Given the description of an element on the screen output the (x, y) to click on. 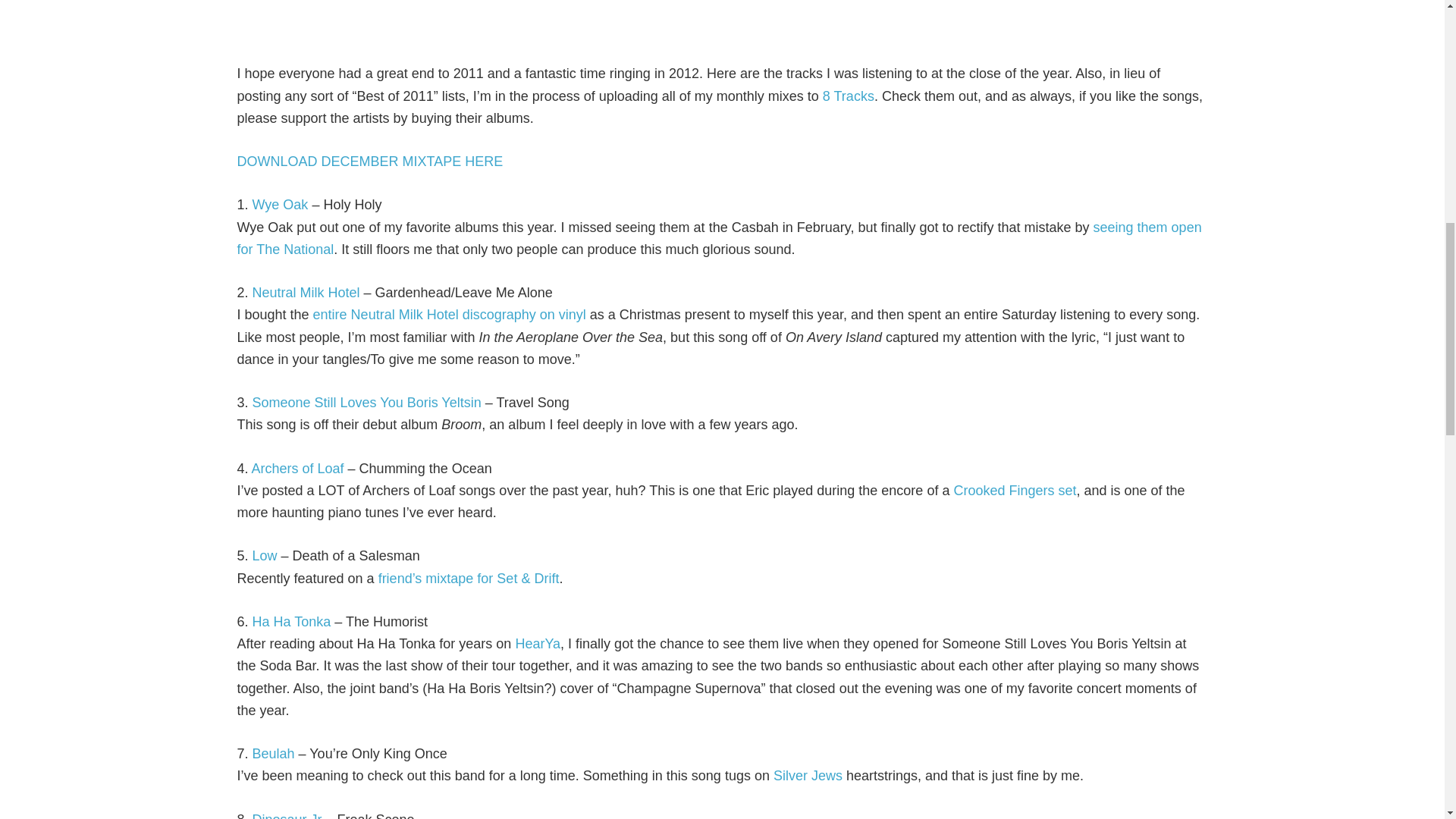
Dinosaur Jr (286, 815)
Someone Still Loves You Boris Yeltsin (366, 402)
8 Tracks (848, 95)
Neutral Milk Hotel (305, 292)
Ha Ha Tonka (292, 621)
DOWNLOAD DECEMBER MIXTAPE HERE (368, 160)
Crooked Fingers set (1014, 490)
Wye Oak (279, 204)
Low (264, 555)
Beulah (273, 753)
